Given the description of an element on the screen output the (x, y) to click on. 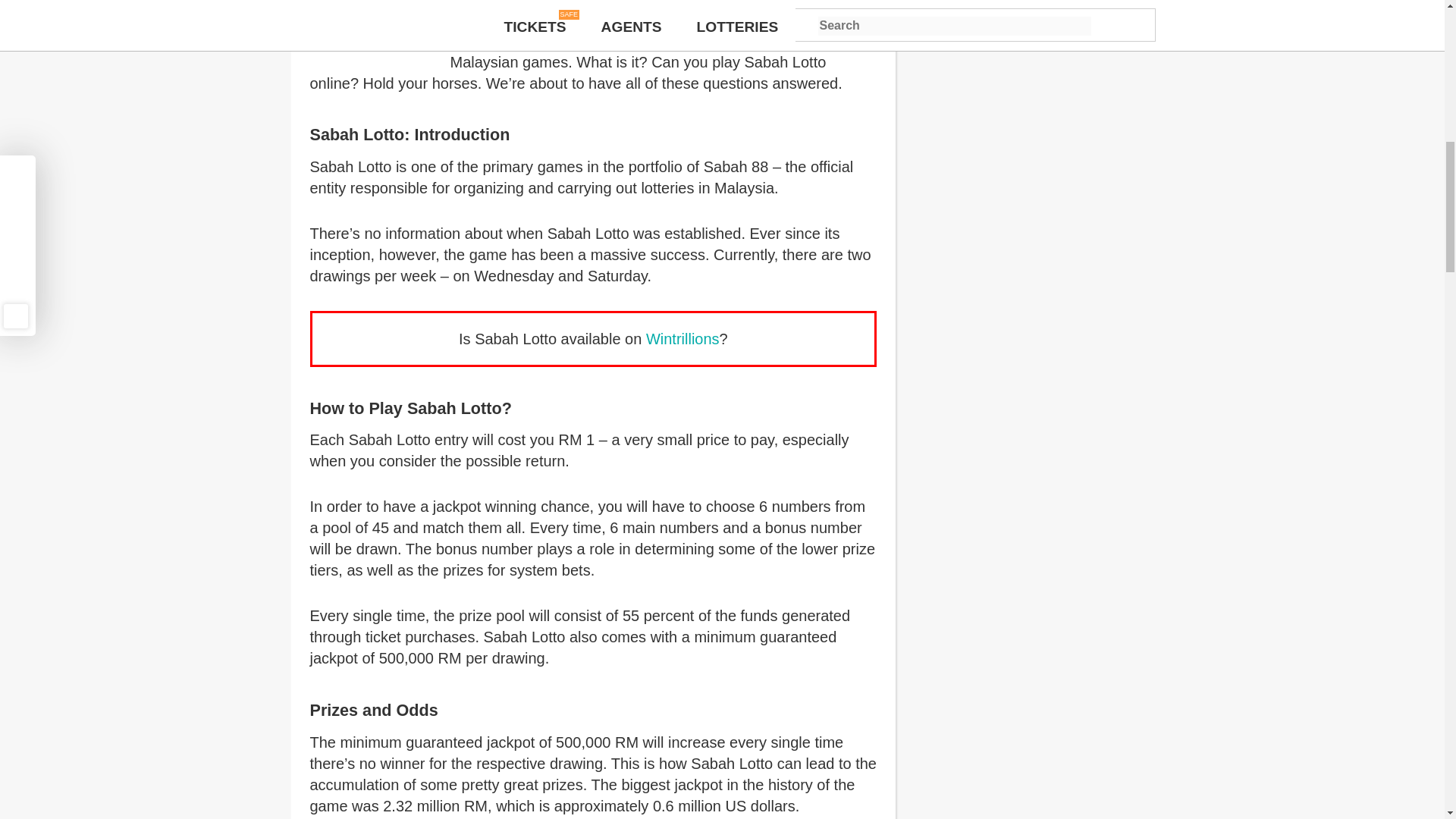
WinTrillions Exposed (682, 338)
Wintrillions (682, 338)
Sabah Lotto Exposed (373, 20)
